Given the description of an element on the screen output the (x, y) to click on. 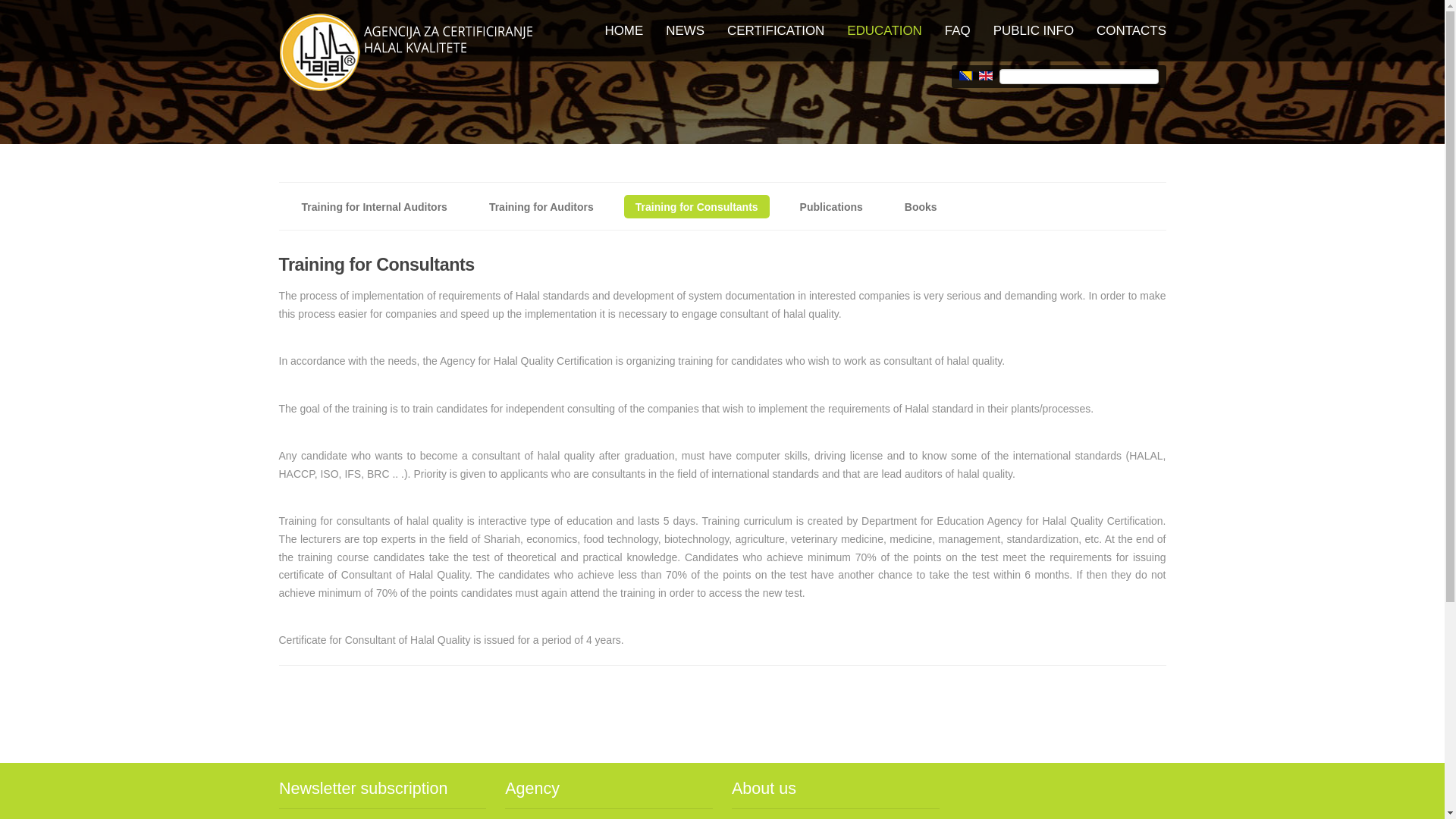
Training for Consultants Element type: text (696, 205)
Publications Element type: text (831, 205)
FAQ Element type: text (957, 35)
English (UK) Element type: hover (984, 75)
Training for Auditors Element type: text (541, 205)
Books Element type: text (920, 205)
Training for Internal Auditors Element type: text (373, 205)
HOME Element type: text (623, 35)
Agencija za Halal certificiranje Element type: hover (411, 53)
EDUCATION Element type: text (884, 35)
Bosanski (BA) Element type: hover (965, 75)
NEWS Element type: text (684, 35)
CERTIFICATION Element type: text (775, 35)
CONTACTS Element type: text (1131, 35)
PUBLIC INFO Element type: text (1033, 35)
